Given the description of an element on the screen output the (x, y) to click on. 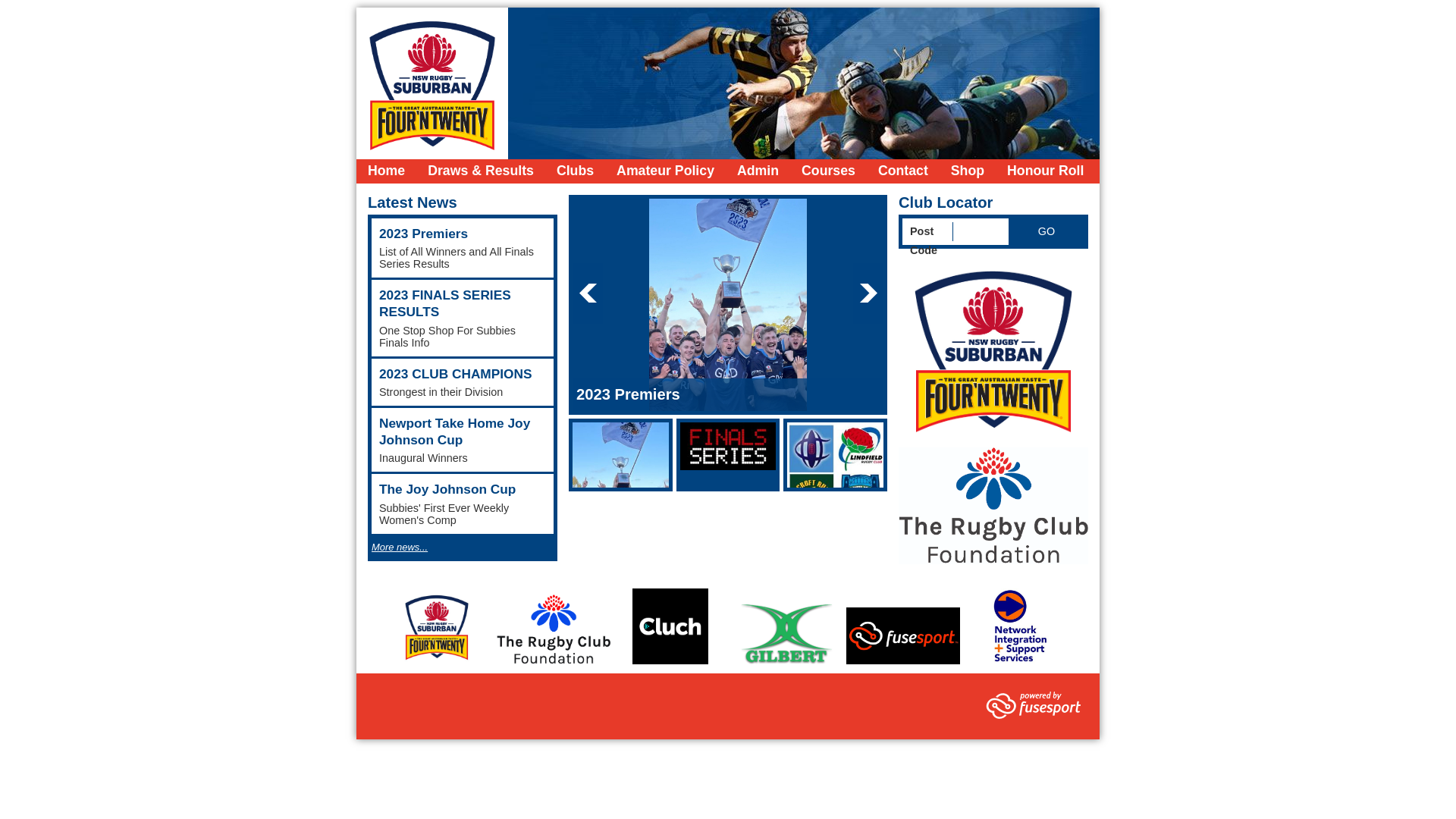
Shop Element type: text (967, 171)
Go Element type: text (1046, 231)
The Joy Johnson Cup
Subbies' First Ever Weekly Women's Comp Element type: text (462, 503)
Amateur Policy Element type: text (665, 171)
More news... Element type: text (399, 546)
Honour Roll Element type: text (1045, 171)
Clubs Element type: text (575, 171)
Sharing the Spirit of the Game Element type: hover (993, 505)
Newport Take Home Joy Johnson Cup
Inaugural Winners Element type: text (462, 439)
Naming Rights Partner of Suburban Rugby Element type: hover (993, 348)
2023 CLUB CHAMPIONS
Strongest in their Division Element type: text (462, 382)
Courses Element type: text (828, 171)
Contact Element type: text (902, 171)
Home Element type: text (386, 171)
Admin Element type: text (757, 171)
2023 Premiers Element type: text (727, 393)
Draws & Results Element type: text (480, 171)
